Given the description of an element on the screen output the (x, y) to click on. 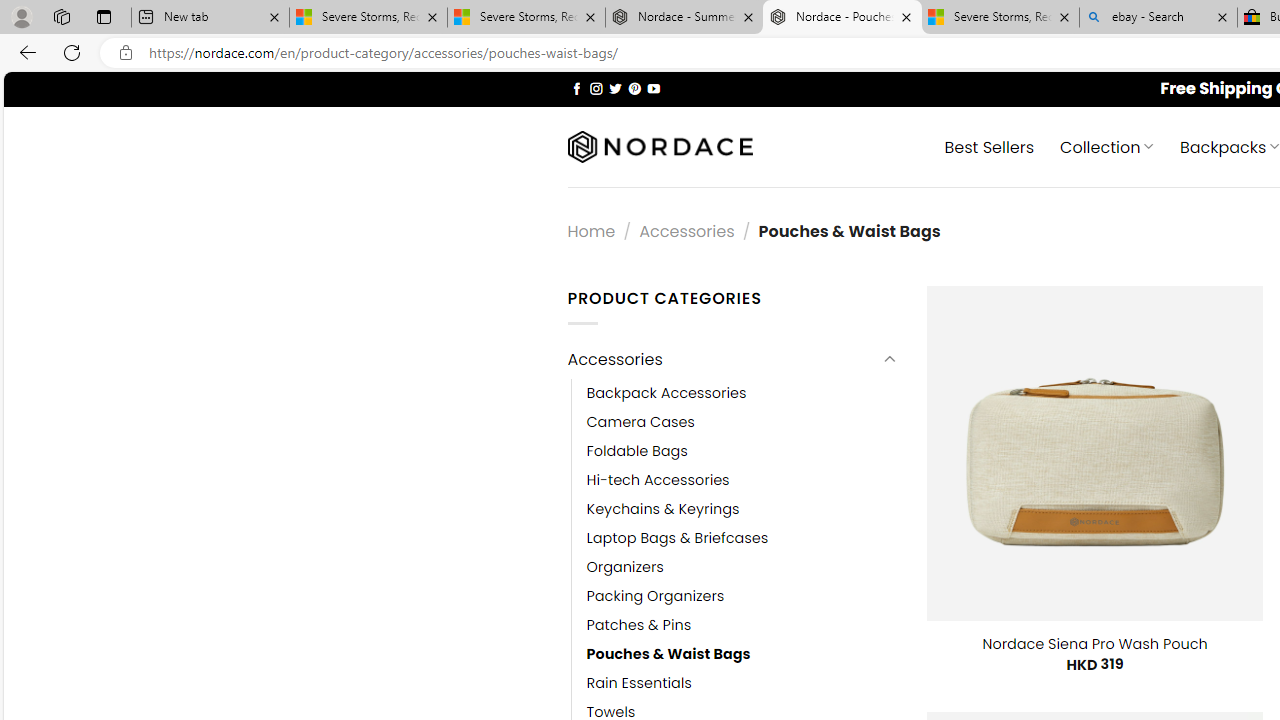
Packing Organizers (655, 596)
Patches & Pins (639, 625)
Backpack Accessories (742, 393)
Hi-tech Accessories (657, 480)
Foldable Bags (637, 450)
Follow on Facebook (576, 88)
Keychains & Keyrings (742, 508)
Accessories (721, 359)
Hi-tech Accessories (742, 480)
  Best Sellers (989, 146)
